Given the description of an element on the screen output the (x, y) to click on. 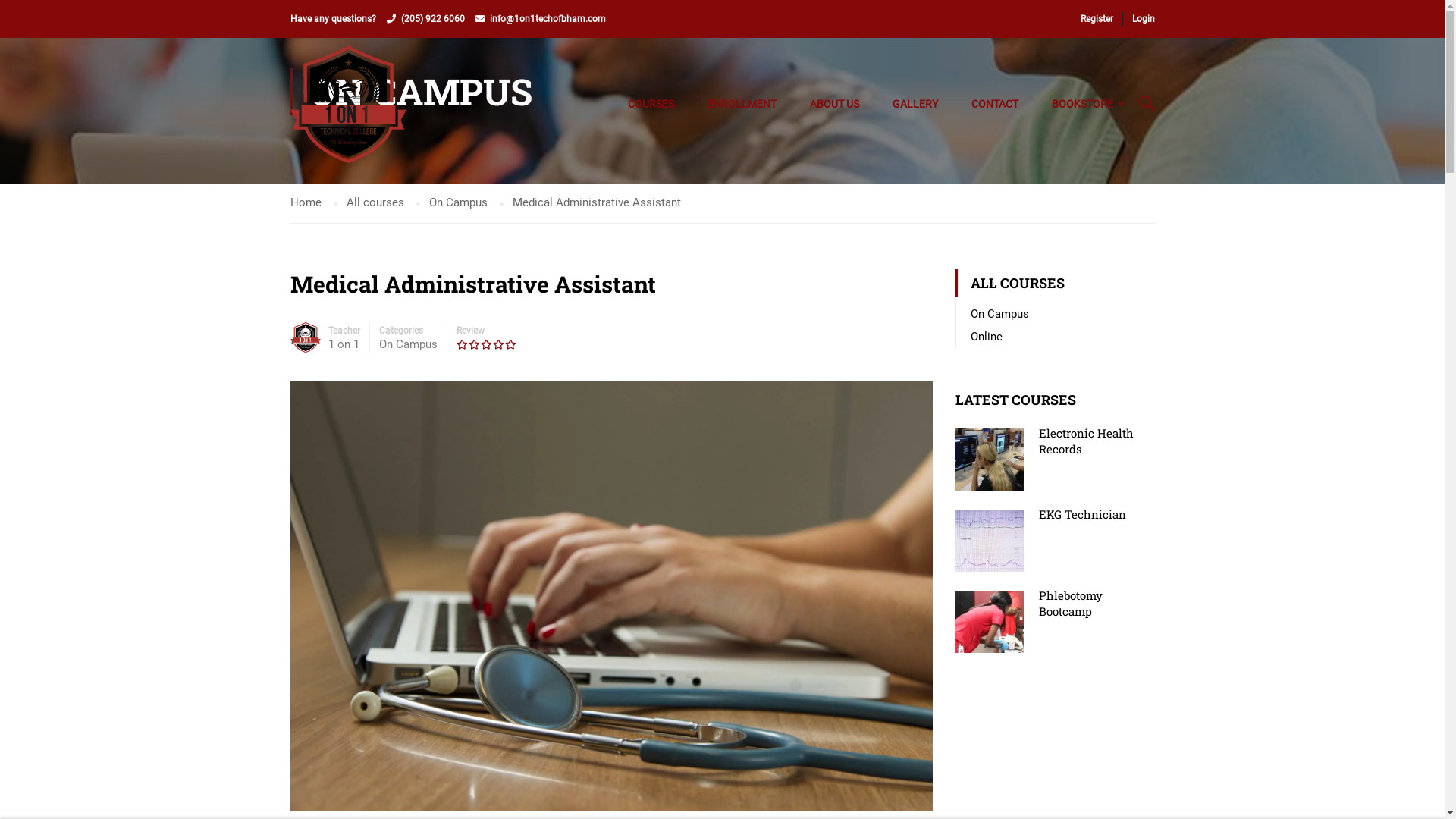
PC medical Element type: hover (610, 595)
Phlebotomy Bootcamp Element type: text (1070, 602)
Register Element type: text (1100, 18)
Sign up Element type: text (909, 446)
COURSES Element type: text (650, 103)
ENROLLMENT Element type: text (740, 103)
On Campus Element type: text (466, 202)
GALLERY Element type: text (914, 103)
BOOKSTORE Element type: text (1081, 103)
EKG Technician Element type: text (1082, 513)
1 on 1 Element type: text (342, 344)
Login Element type: text (837, 430)
Home Element type: text (312, 202)
Electronic Health Records Element type: text (1085, 440)
(205) 922 6060 Element type: text (432, 18)
Online Element type: text (986, 336)
Login Element type: text (1138, 18)
ABOUT US Element type: text (834, 103)
On Campus Element type: text (408, 344)
All courses Element type: text (382, 202)
On Campus Element type: text (999, 313)
info@1on1techofbham.com Element type: text (547, 18)
CONTACT Element type: text (993, 103)
